Given the description of an element on the screen output the (x, y) to click on. 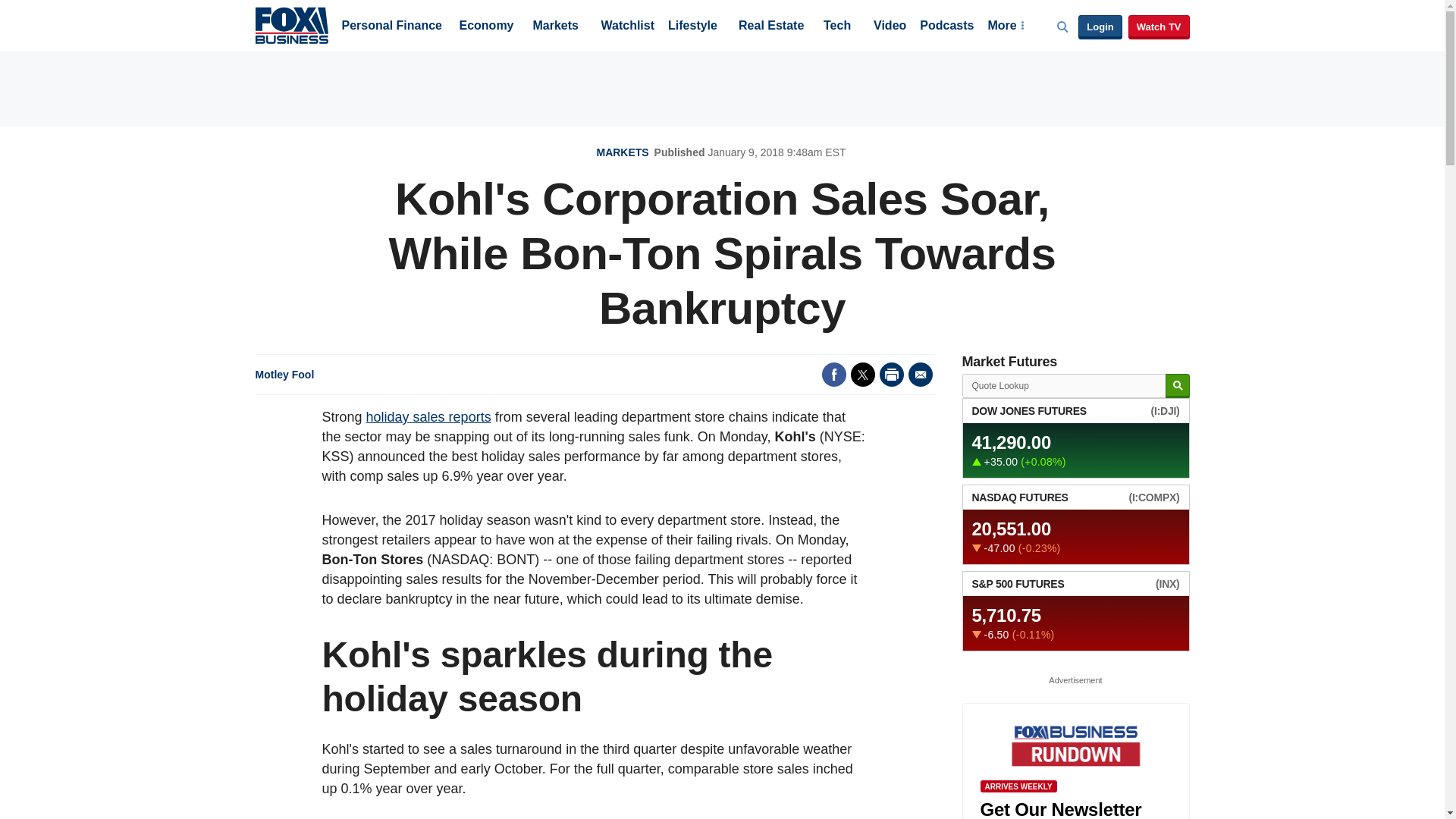
More (1005, 27)
Watch TV (1158, 27)
Real Estate (770, 27)
Podcasts (947, 27)
Tech (837, 27)
Login (1099, 27)
Search (1176, 385)
Personal Finance (391, 27)
Video (889, 27)
Search (1176, 385)
Watchlist (626, 27)
Lifestyle (692, 27)
Markets (555, 27)
Economy (486, 27)
Fox Business (290, 24)
